Given the description of an element on the screen output the (x, y) to click on. 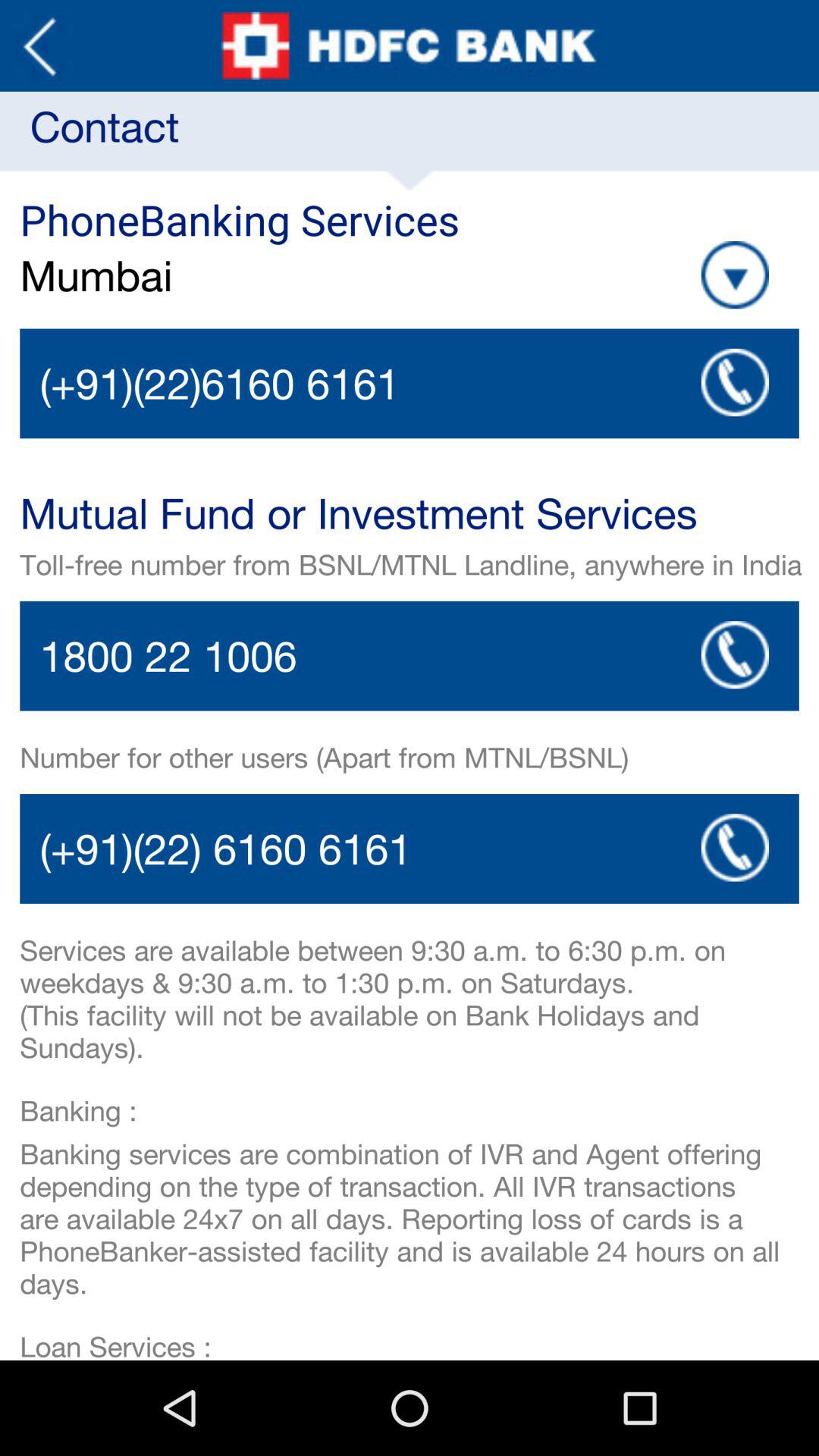
call 1800 22 1006 (734, 654)
